Given the description of an element on the screen output the (x, y) to click on. 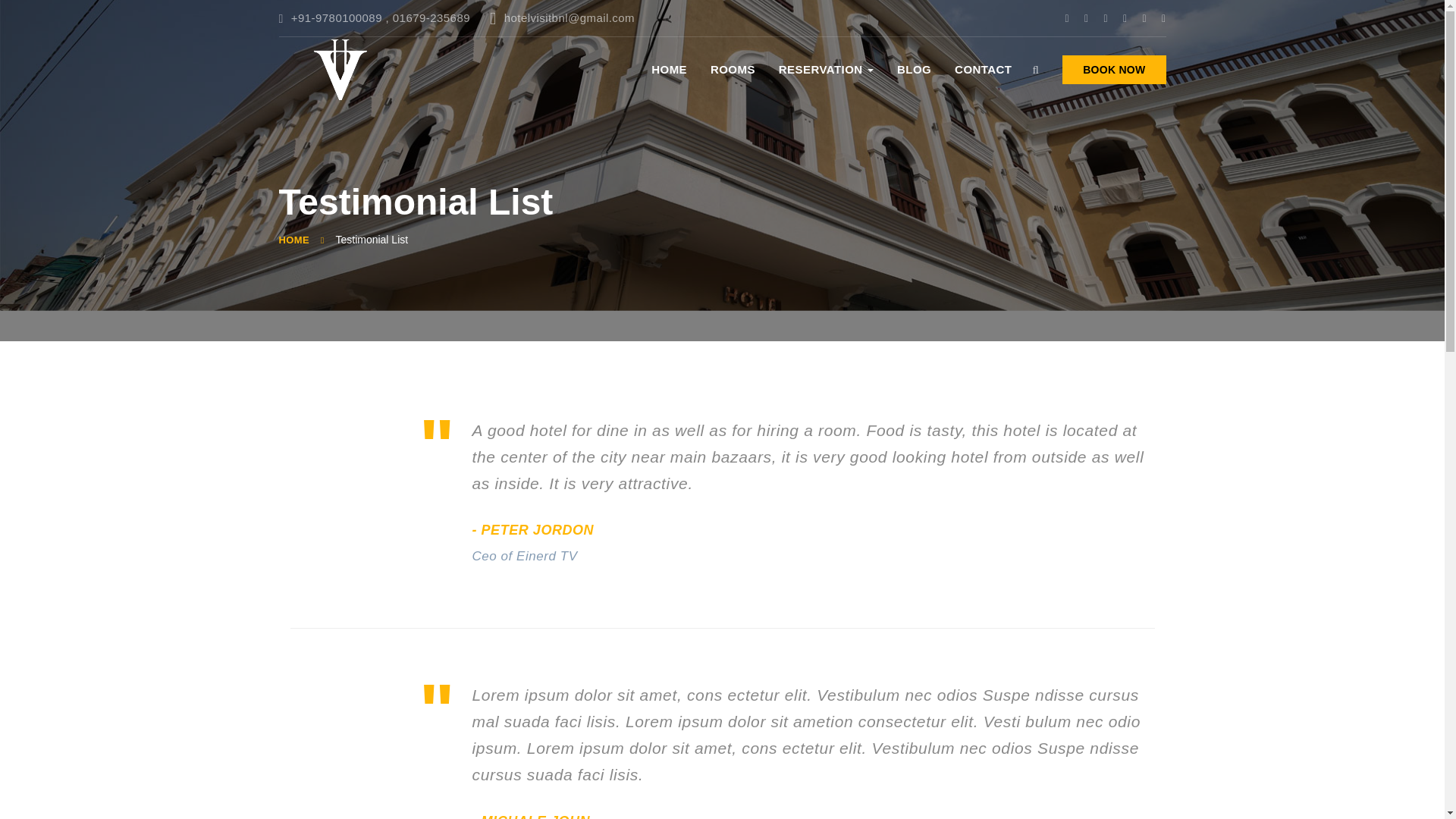
BOOK NOW (1114, 69)
Reservation (825, 68)
HOME (294, 239)
RESERVATION (825, 68)
